Given the description of an element on the screen output the (x, y) to click on. 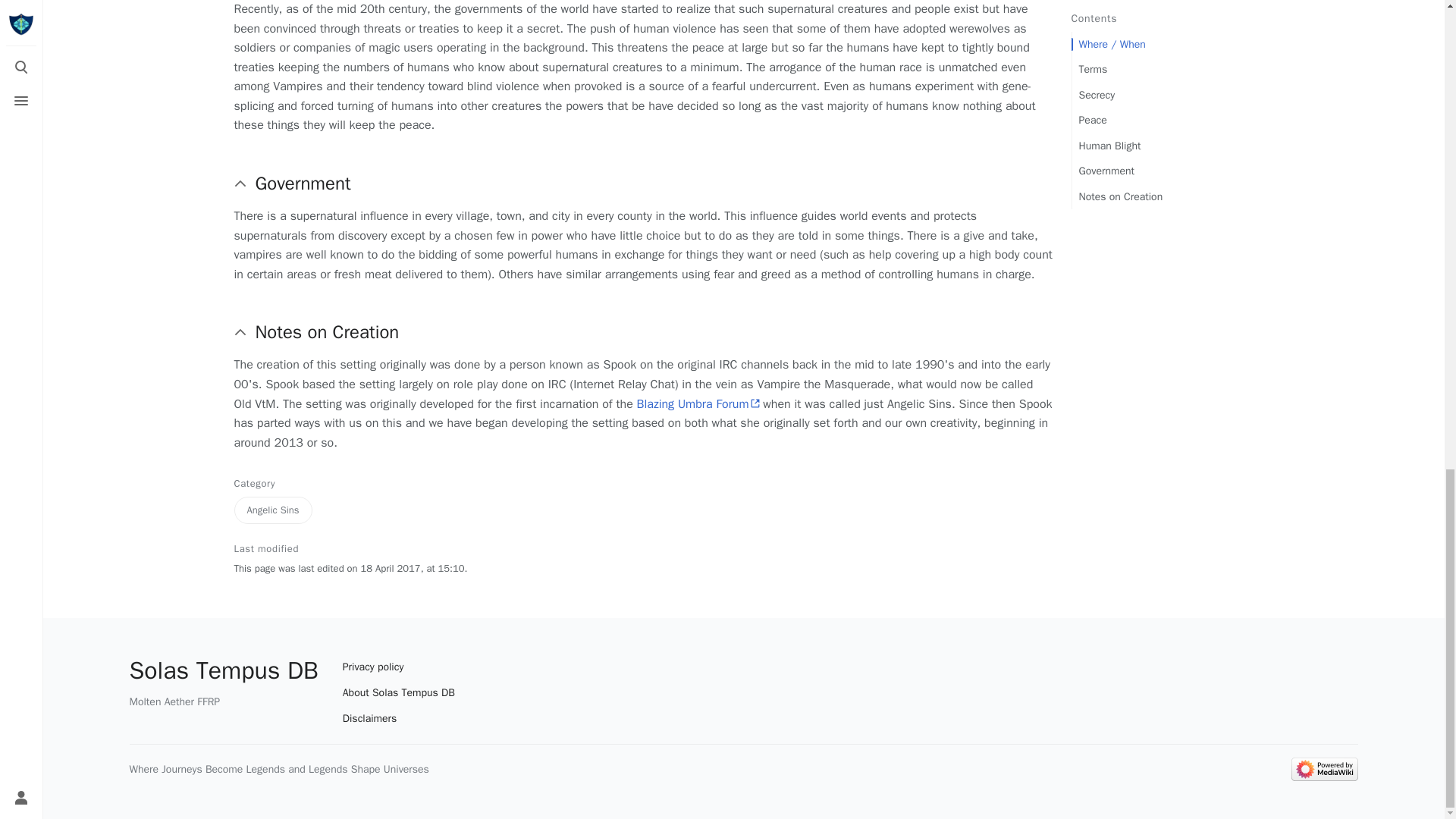
About Solas Tempus DB (398, 692)
Disclaimers (398, 718)
Category (271, 483)
Privacy policy (398, 667)
Angelic Sins (271, 510)
Blazing Umbra Forum (698, 403)
